Given the description of an element on the screen output the (x, y) to click on. 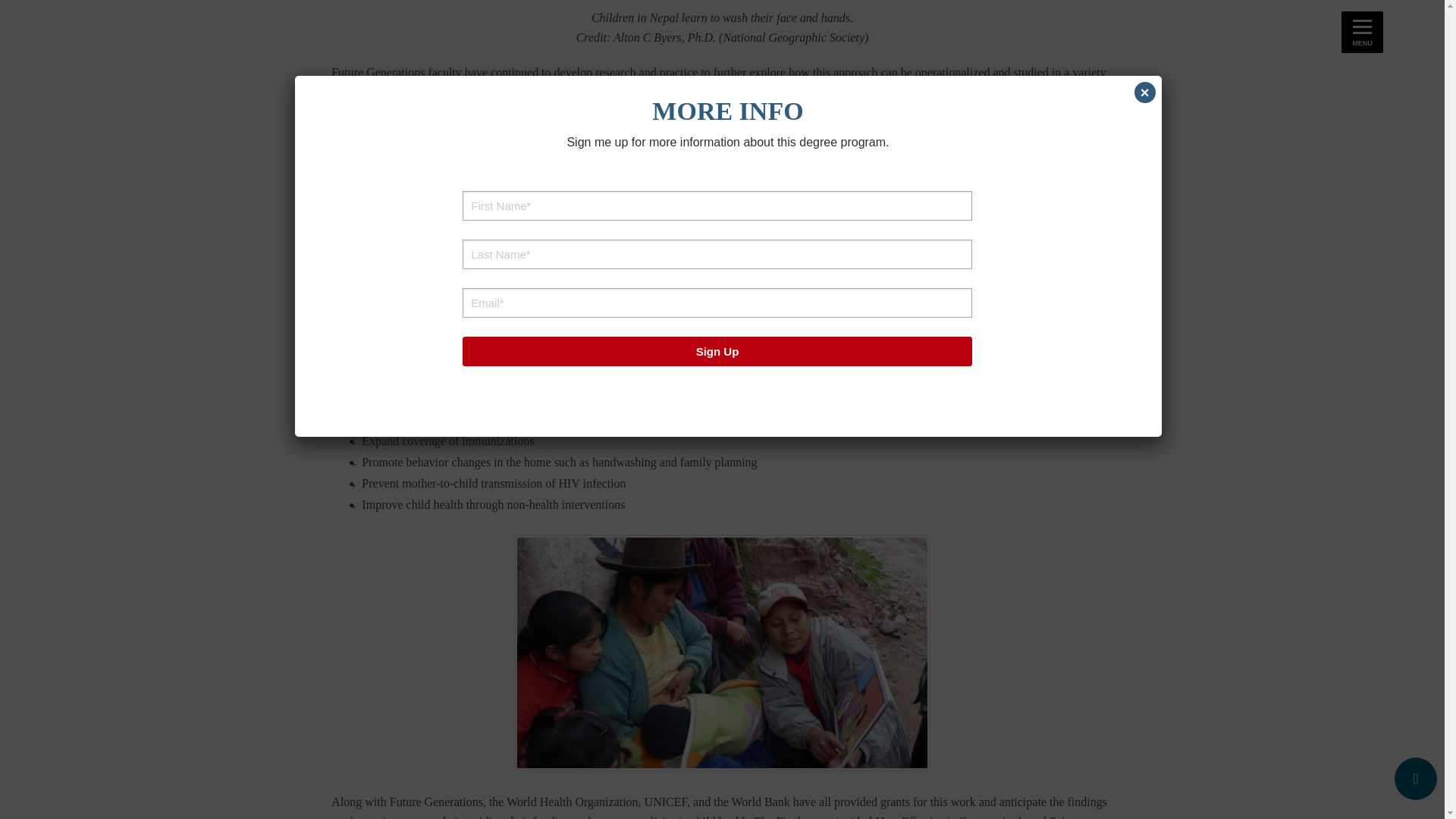
Nivare sanitary 21 (721, 4)
